Given the description of an element on the screen output the (x, y) to click on. 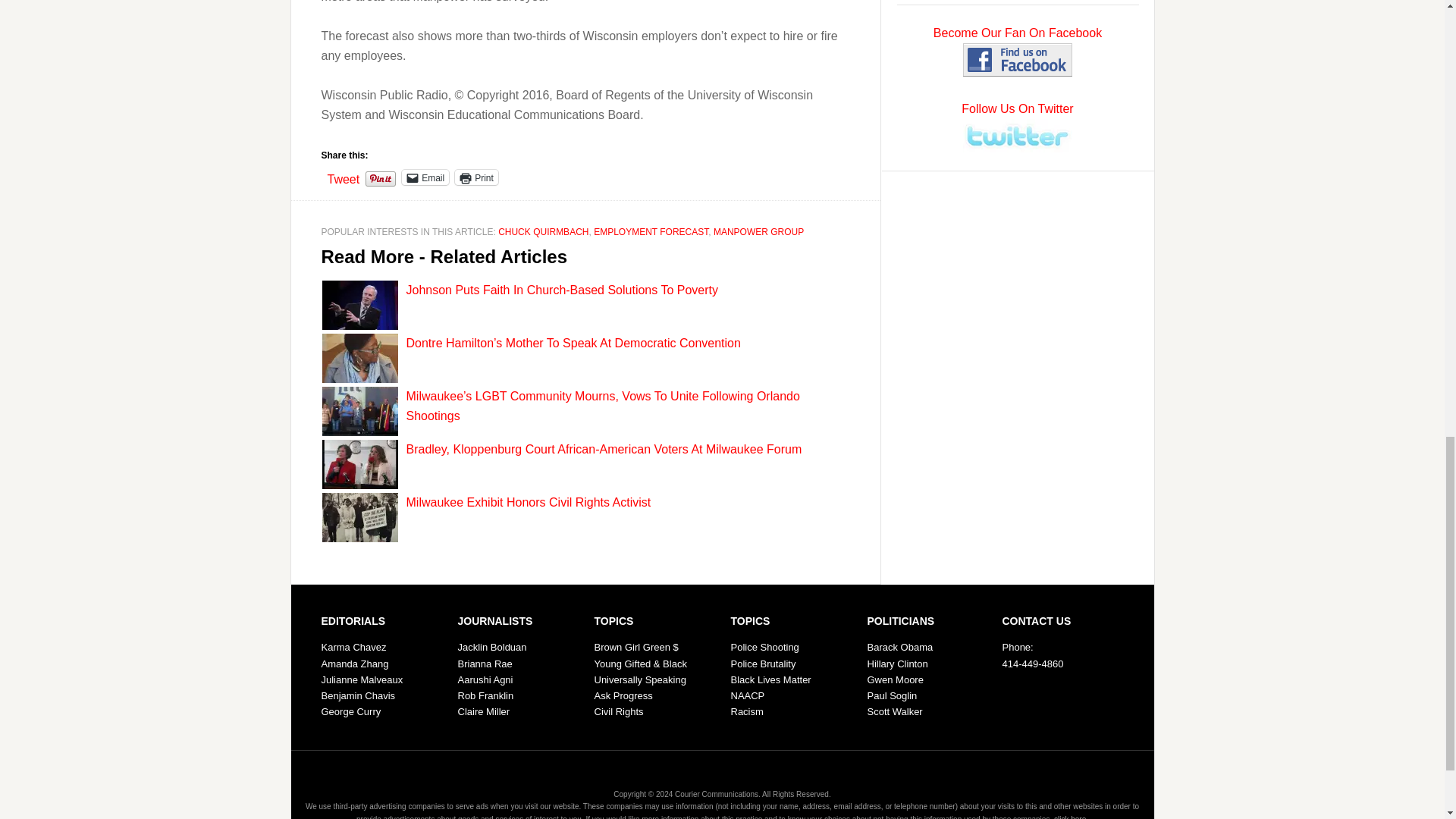
Email (424, 177)
EMPLOYMENT FORECAST (650, 231)
Print (475, 177)
Click to email a link to a friend (424, 177)
Click to print (475, 177)
Johnson Puts Faith In Church-Based Solutions To Poverty (561, 289)
Milwaukee Exhibit Honors Civil Rights Activist (528, 502)
CHUCK QUIRMBACH (542, 231)
MANPOWER GROUP (758, 231)
Johnson Puts Faith In Church-Based Solutions To Poverty (561, 289)
Tweet (343, 176)
